Given the description of an element on the screen output the (x, y) to click on. 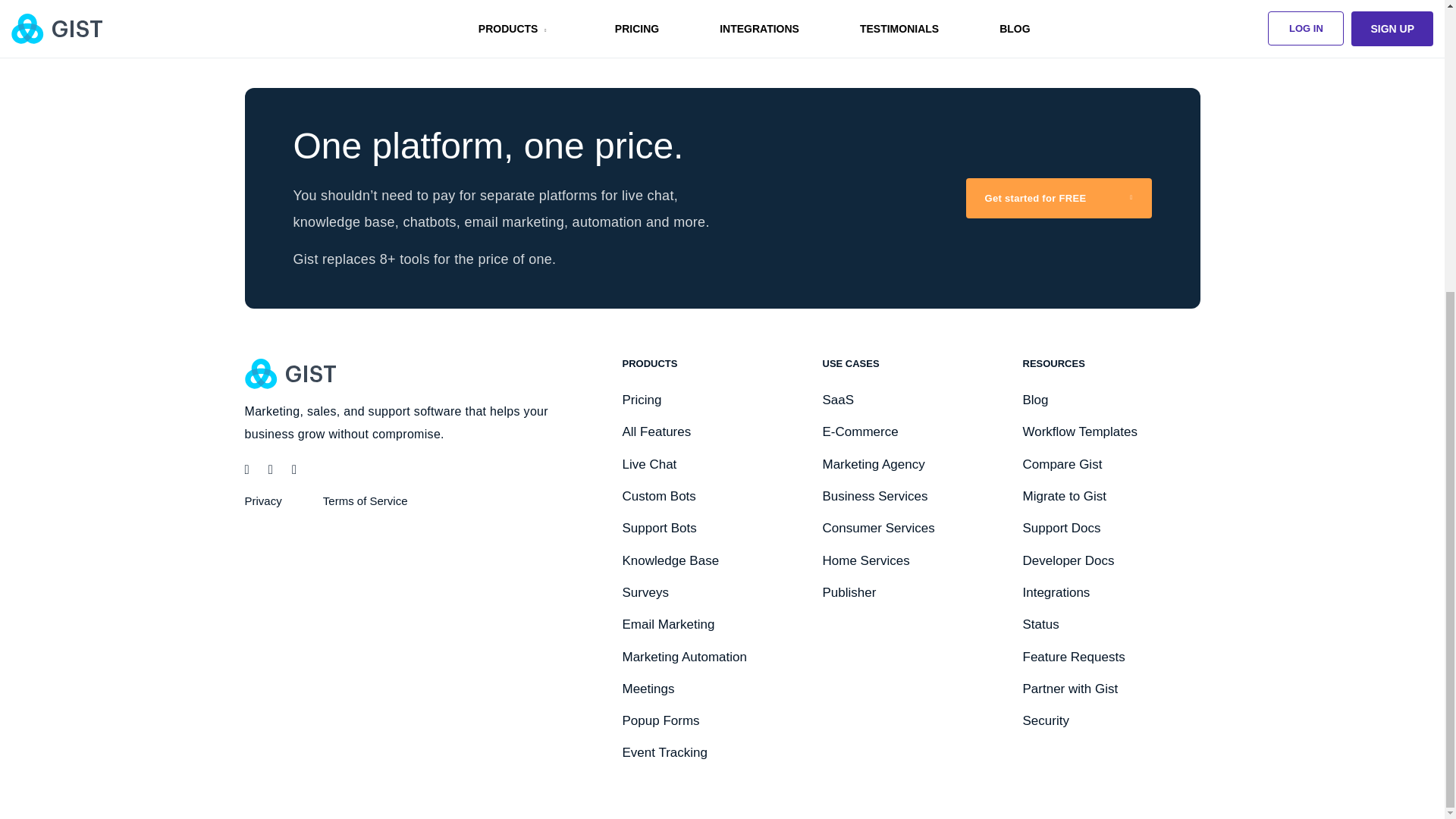
All Features (655, 431)
Pricing (641, 400)
Terms of Service (365, 500)
Knowledge Base (670, 560)
Privacy (262, 500)
Custom Bots (658, 495)
Support Bots (658, 527)
Live Chat (649, 464)
Email Marketing (667, 624)
Get started for FREE (1058, 198)
